Given the description of an element on the screen output the (x, y) to click on. 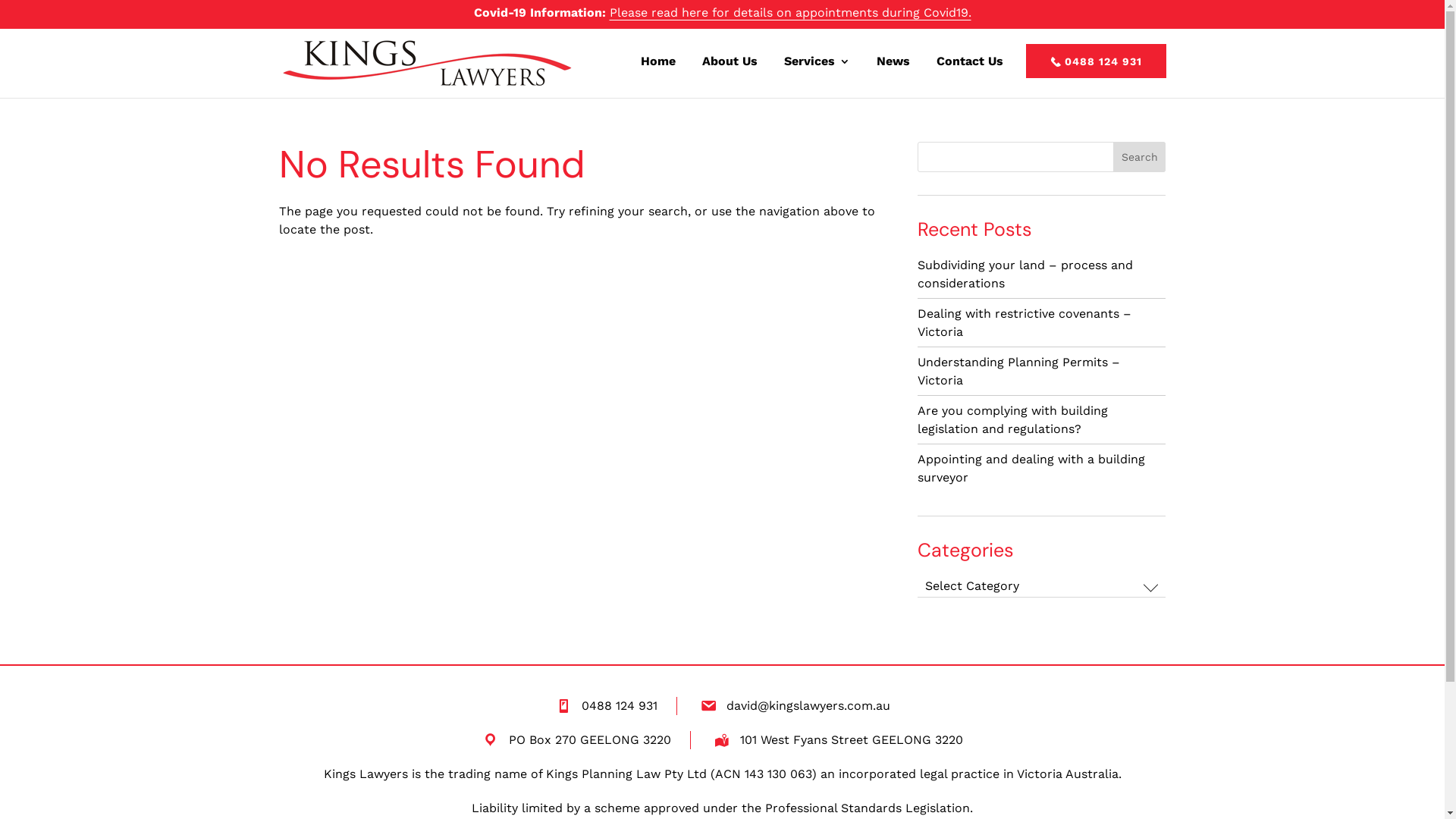
About Us Element type: text (729, 65)
0488 124 931 Element type: text (618, 705)
david@kingslawyers.com.au Element type: text (808, 705)
Are you complying with building legislation and regulations? Element type: text (1012, 419)
Appointing and dealing with a building surveyor Element type: text (1031, 467)
Home Element type: text (657, 65)
Services Element type: text (817, 65)
News Element type: text (893, 65)
0488 124 931 Element type: text (1095, 60)
Contact Us Element type: text (968, 65)
Please read here for details on appointments during Covid19. Element type: text (790, 12)
Search Element type: text (1139, 156)
